Given the description of an element on the screen output the (x, y) to click on. 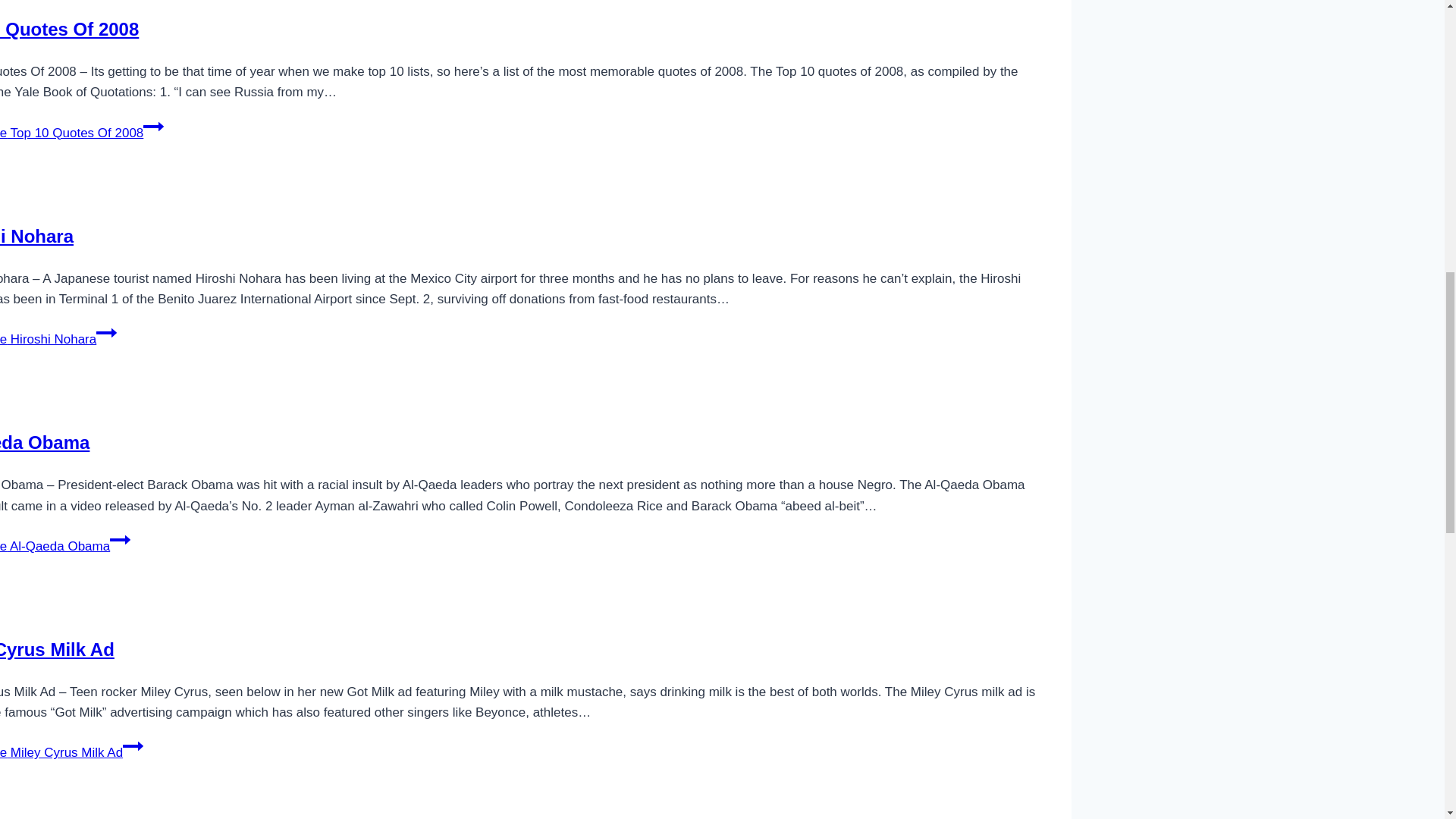
Al-Qaeda Obama (44, 442)
Hiroshi Nohara (37, 236)
Read More Al-Qaeda ObamaContinue (65, 545)
Continue (152, 126)
Continue (106, 332)
Read More Top 10 Quotes Of 2008Continue (81, 133)
Read More Miley Cyrus Milk AdContinue (71, 752)
Miley Cyrus Milk Ad (57, 649)
Continue (120, 539)
Top 10 Quotes Of 2008 (69, 28)
Read More Hiroshi NoharaContinue (58, 339)
Continue (132, 745)
